Given the description of an element on the screen output the (x, y) to click on. 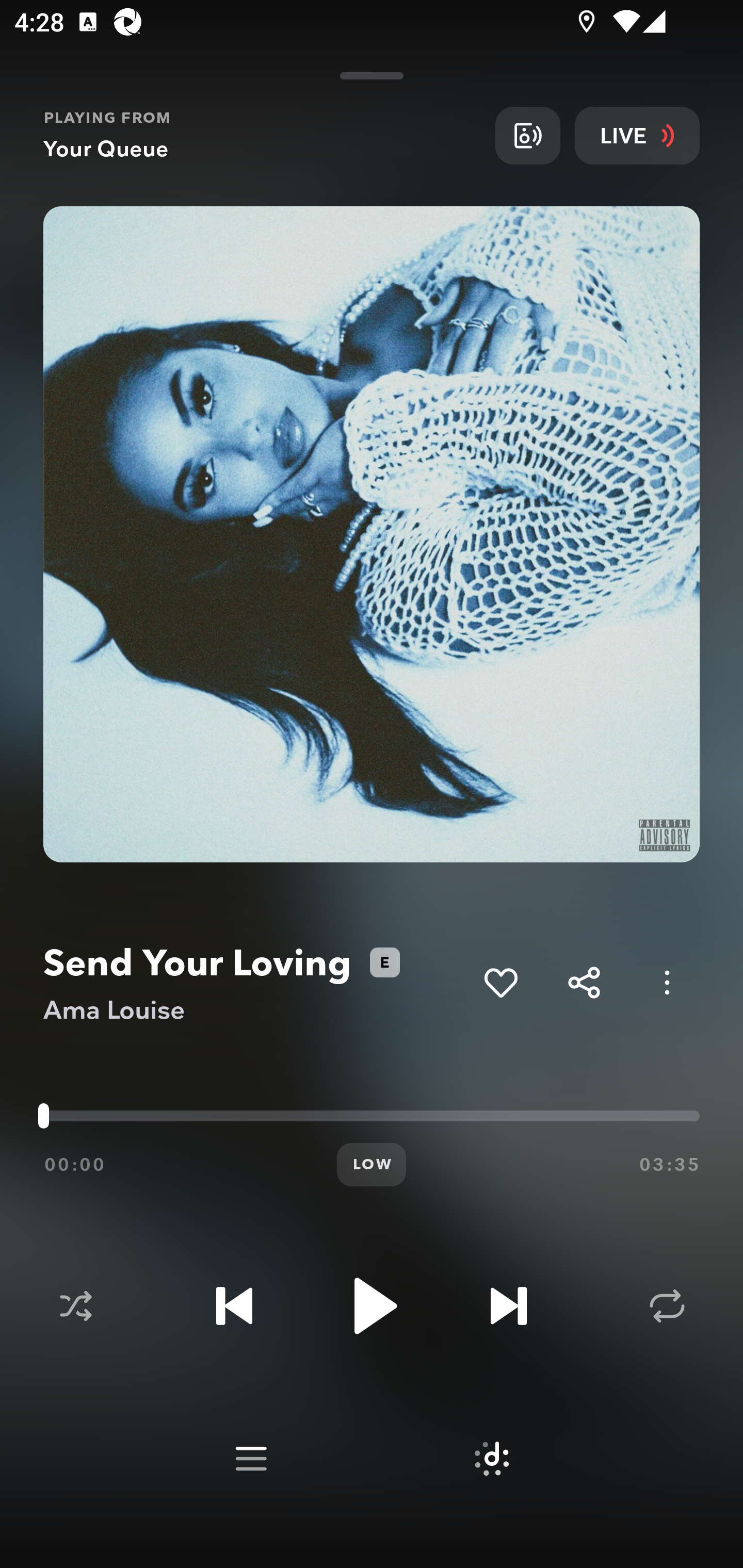
Broadcast (527, 135)
LIVE (637, 135)
PLAYING FROM Your Queue (261, 135)
Send Your Loving    Ama Louise (255, 983)
Add to My Collection (500, 982)
Share (583, 982)
Options (666, 982)
LOW (371, 1164)
Play (371, 1306)
Previous (234, 1306)
Next (508, 1306)
Shuffle disabled (75, 1306)
Repeat Off (666, 1306)
Play queue (250, 1458)
Suggested tracks (491, 1458)
